Given the description of an element on the screen output the (x, y) to click on. 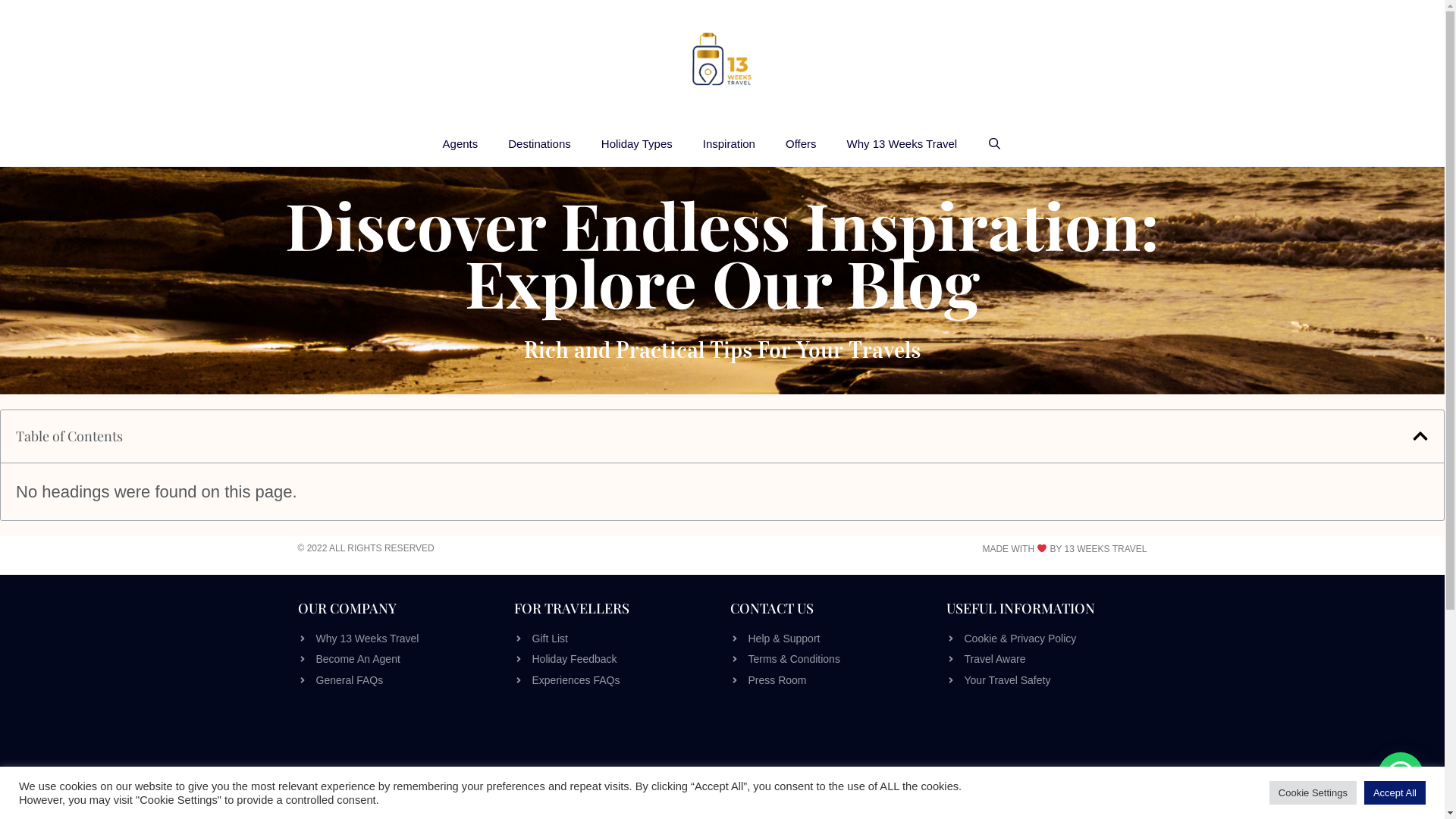
Travel Aware Element type: text (1046, 658)
Cookie & Privacy Policy Element type: text (1046, 638)
Offers Element type: text (800, 143)
Why 13 Weeks Travel Element type: text (901, 143)
Your Travel Safety Element type: text (1046, 679)
Agents Element type: text (460, 143)
Accept All Element type: text (1394, 792)
Cookie Settings Element type: text (1312, 792)
Destinations Element type: text (539, 143)
Inspiration Element type: text (728, 143)
Holiday Types Element type: text (636, 143)
